Given the description of an element on the screen output the (x, y) to click on. 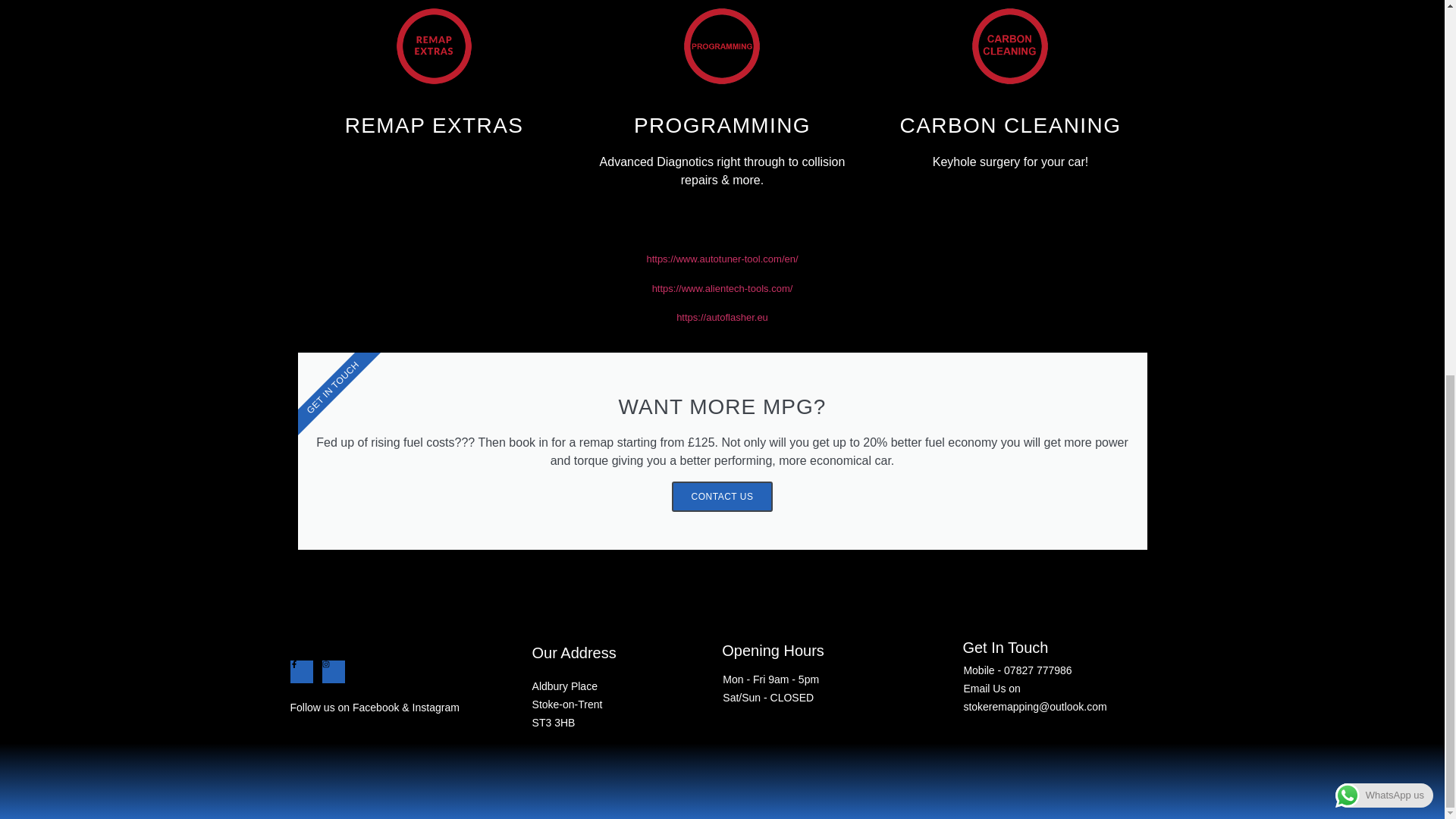
REMAP EXTRAS (434, 125)
PROGRAMMING (721, 125)
CARBON CLEANING (1010, 125)
